Given the description of an element on the screen output the (x, y) to click on. 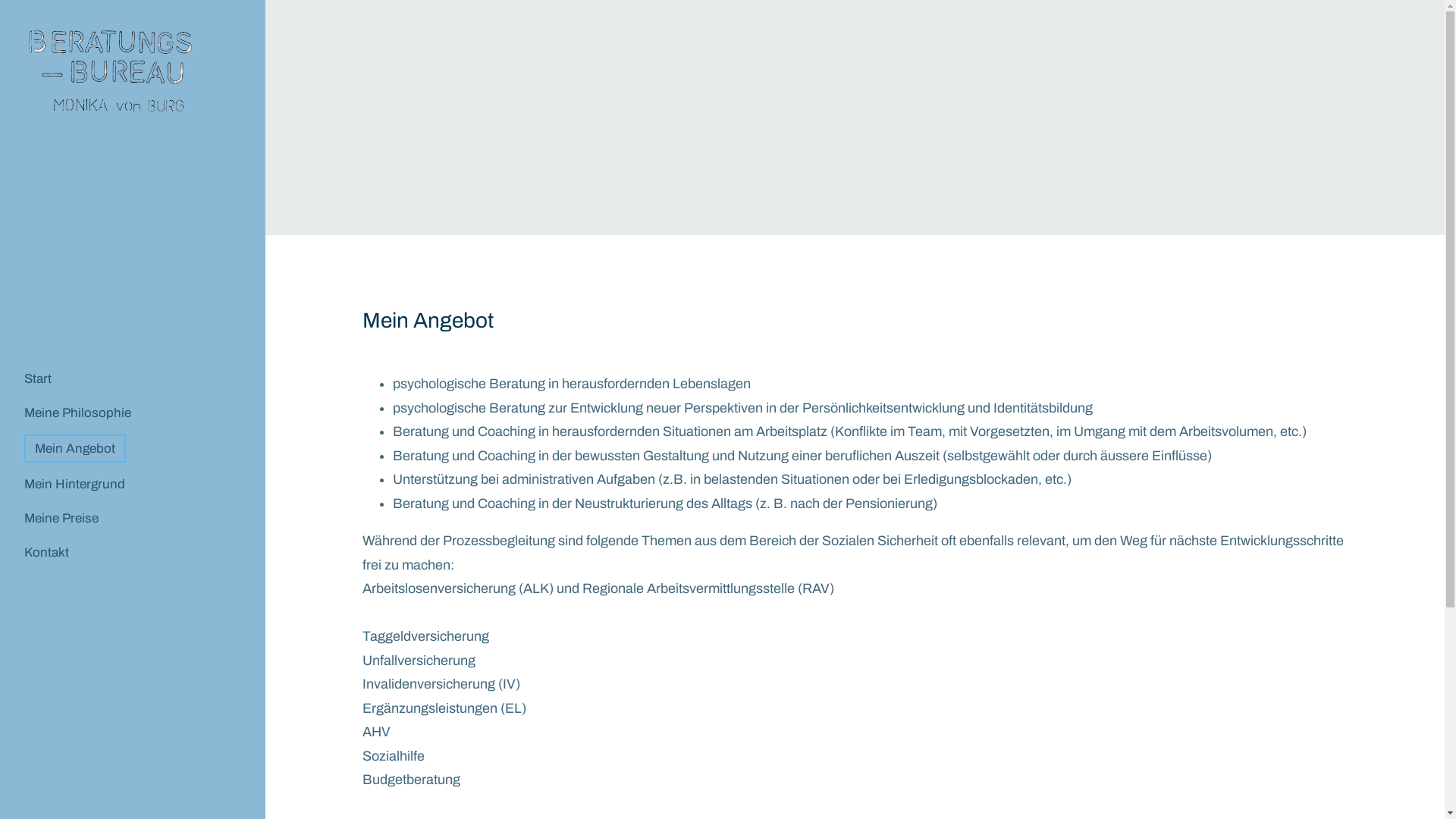
Kontakt Element type: text (51, 551)
Mein Hintergrund Element type: text (79, 483)
Mein Angebot Element type: text (74, 448)
Meine Philosophie Element type: text (82, 412)
Meine Preise Element type: text (65, 517)
Start Element type: text (42, 378)
